Given the description of an element on the screen output the (x, y) to click on. 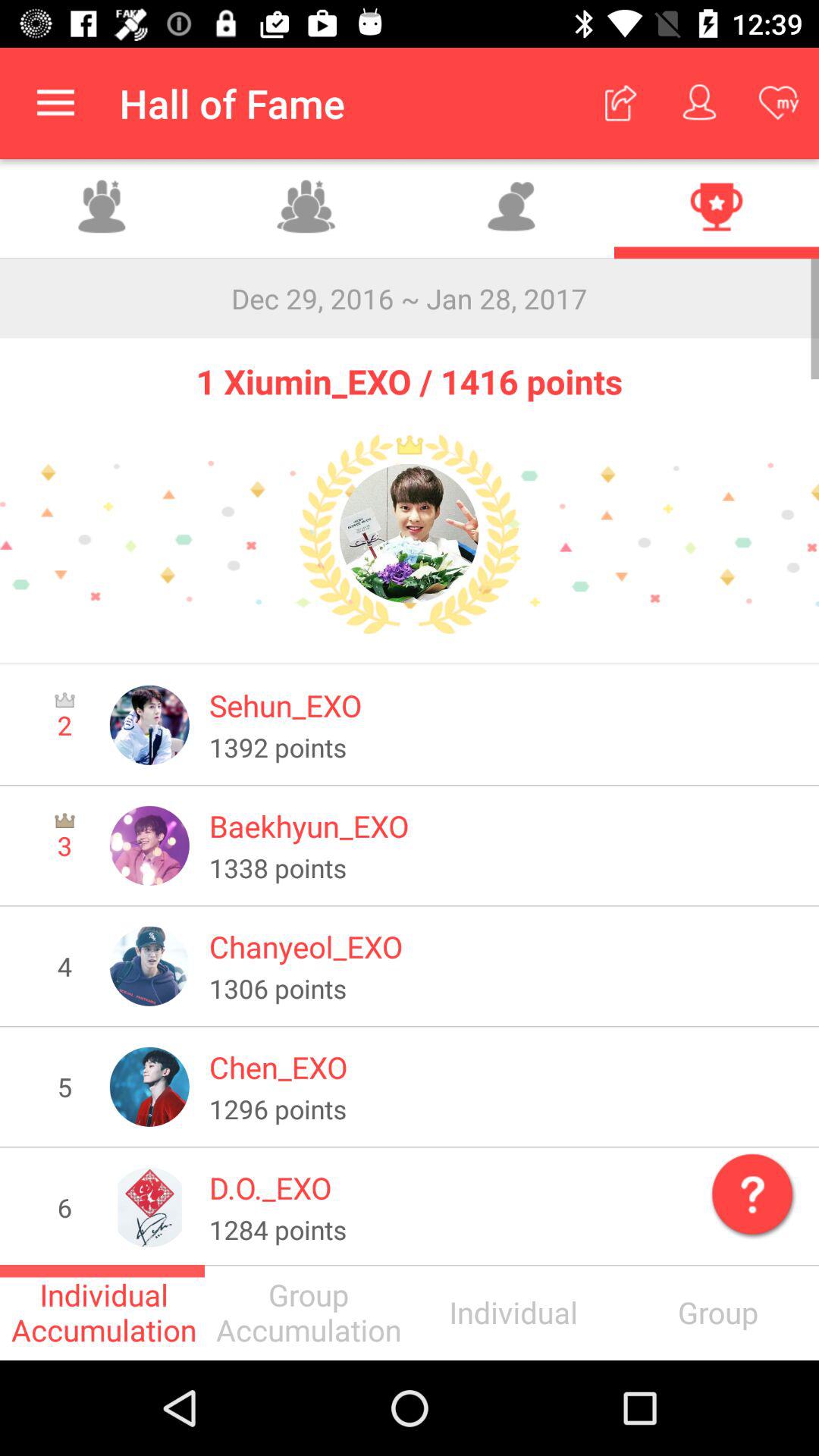
give hearts (511, 208)
